Given the description of an element on the screen output the (x, y) to click on. 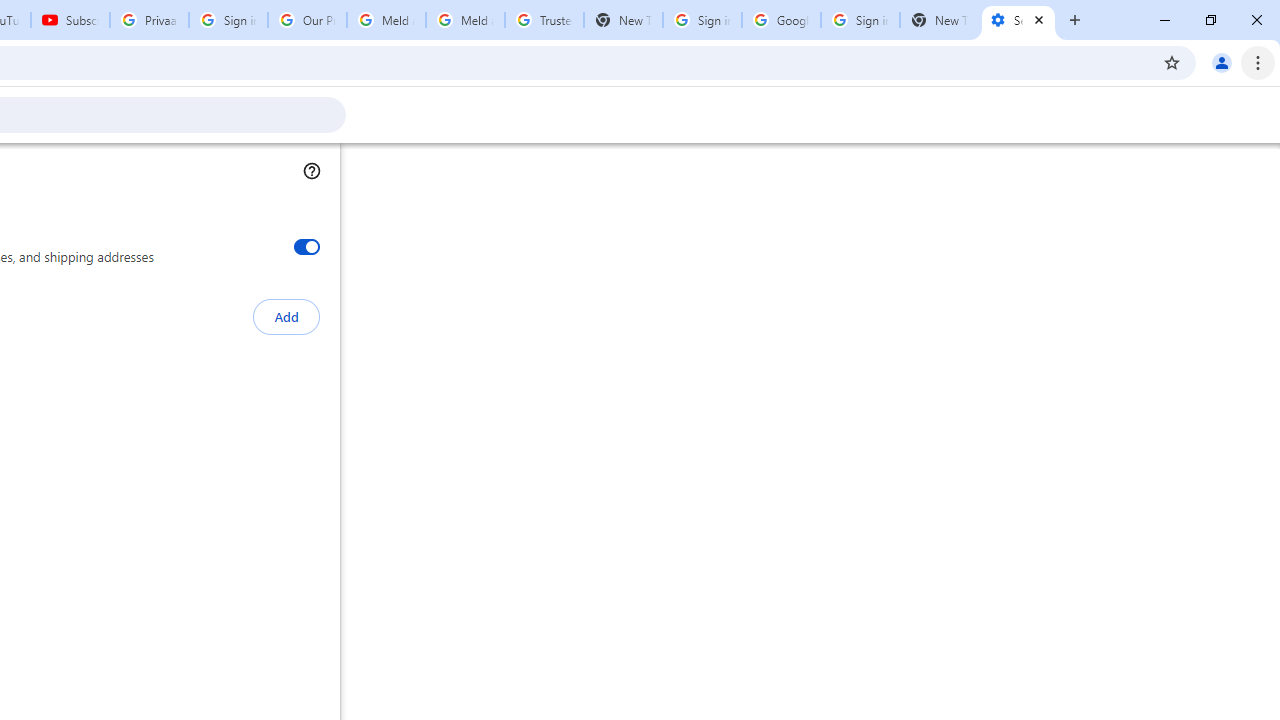
Settings - Addresses and more (1018, 20)
Trusted Information and Content - Google Safety Center (544, 20)
Google Cybersecurity Innovations - Google Safety Center (781, 20)
Subscriptions - YouTube (70, 20)
Sign in - Google Accounts (859, 20)
Sign in - Google Accounts (228, 20)
